Given the description of an element on the screen output the (x, y) to click on. 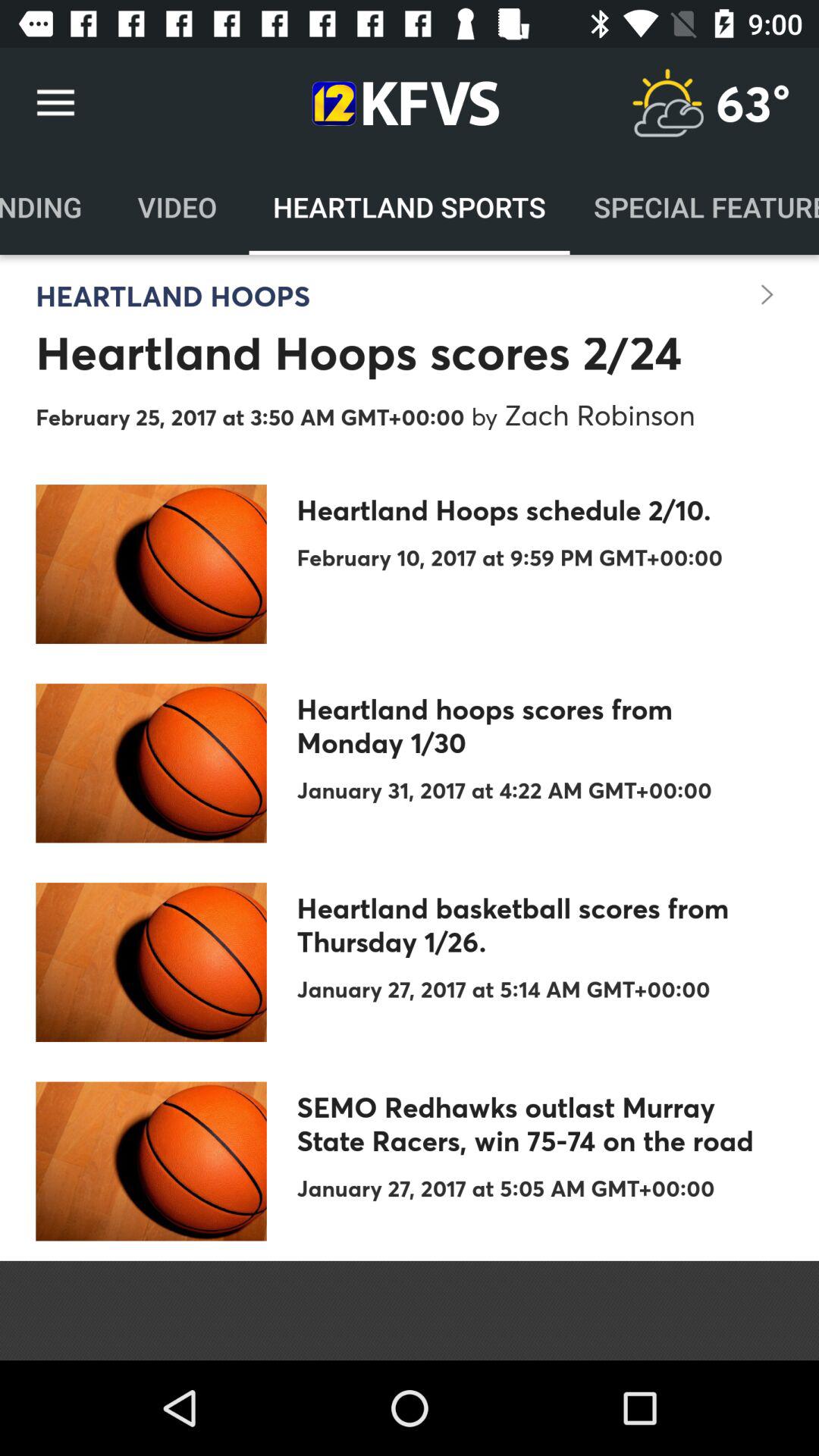
click the item above the trending icon (55, 103)
